Given the description of an element on the screen output the (x, y) to click on. 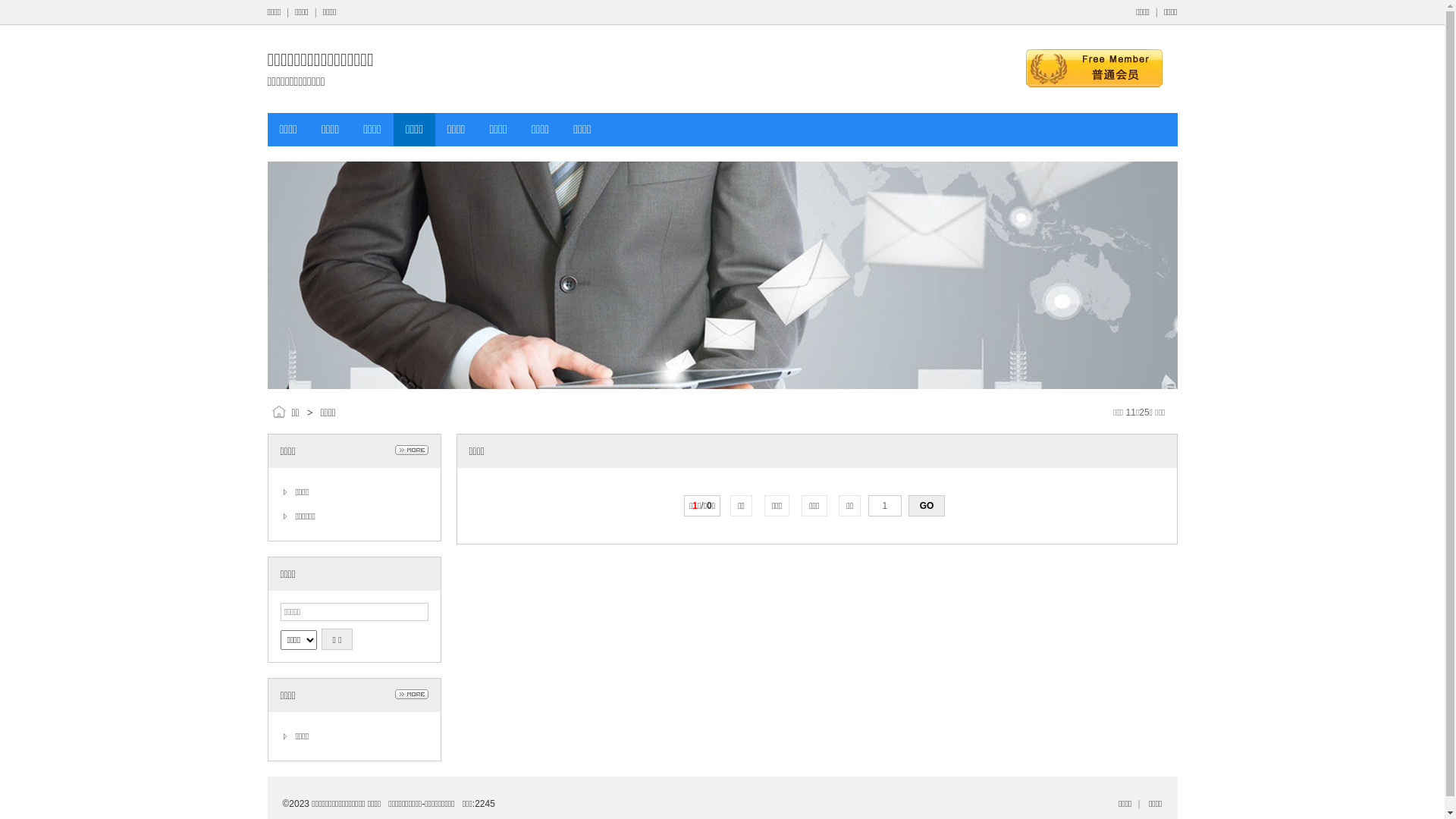
GO Element type: text (926, 505)
